Given the description of an element on the screen output the (x, y) to click on. 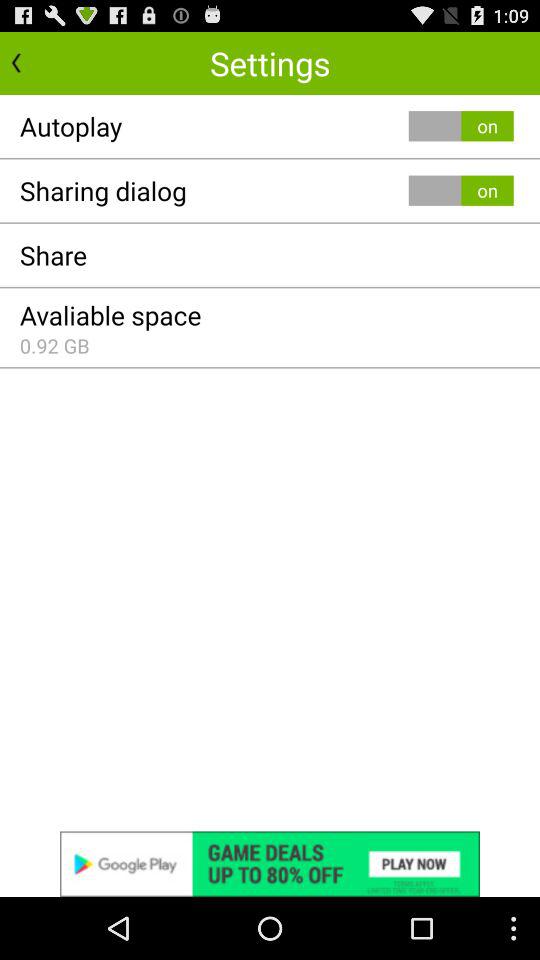
go to previous (36, 62)
